Given the description of an element on the screen output the (x, y) to click on. 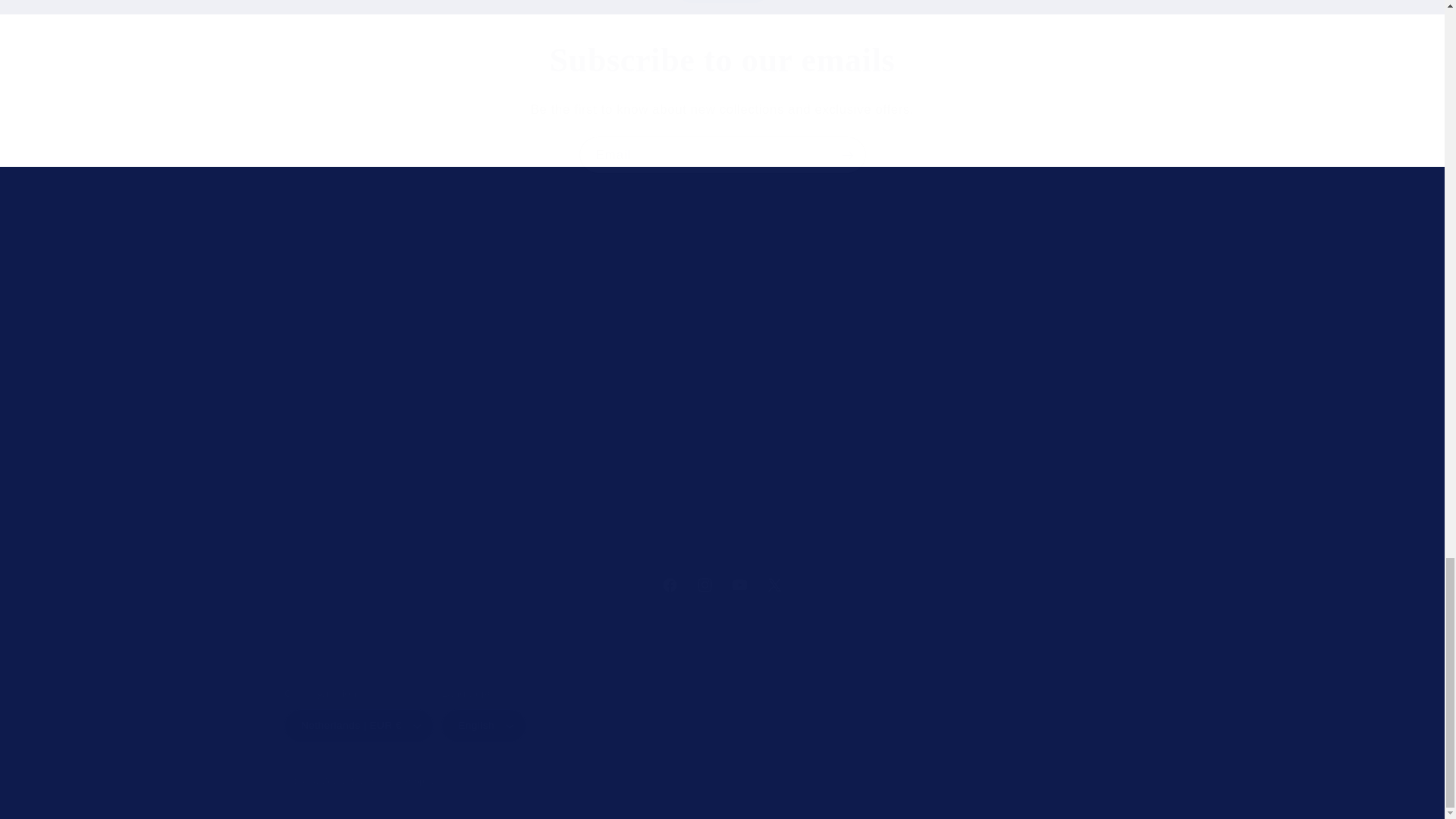
Email (722, 154)
Subscribe to our emails (722, 60)
tel:0031104613131 (805, 419)
